Given the description of an element on the screen output the (x, y) to click on. 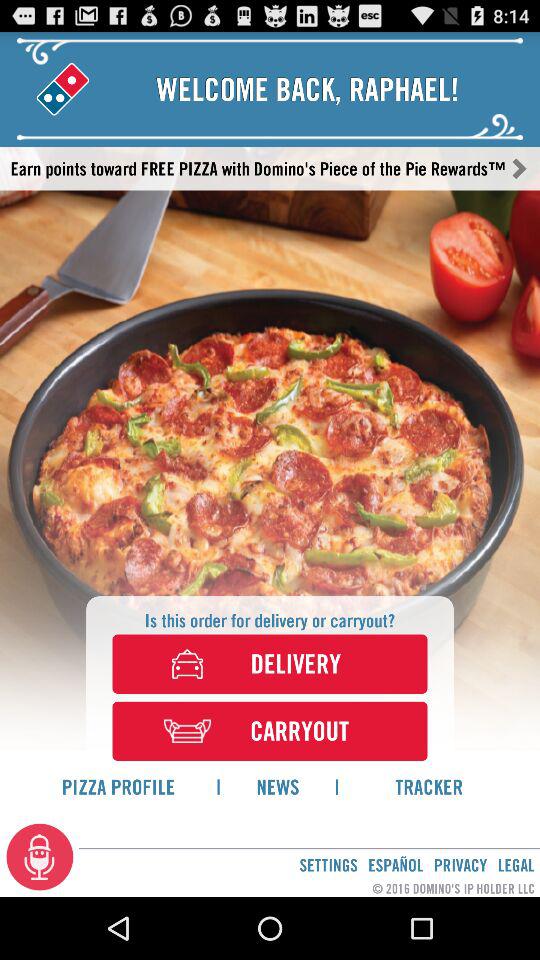
turn on app to the right of privacy item (516, 864)
